Given the description of an element on the screen output the (x, y) to click on. 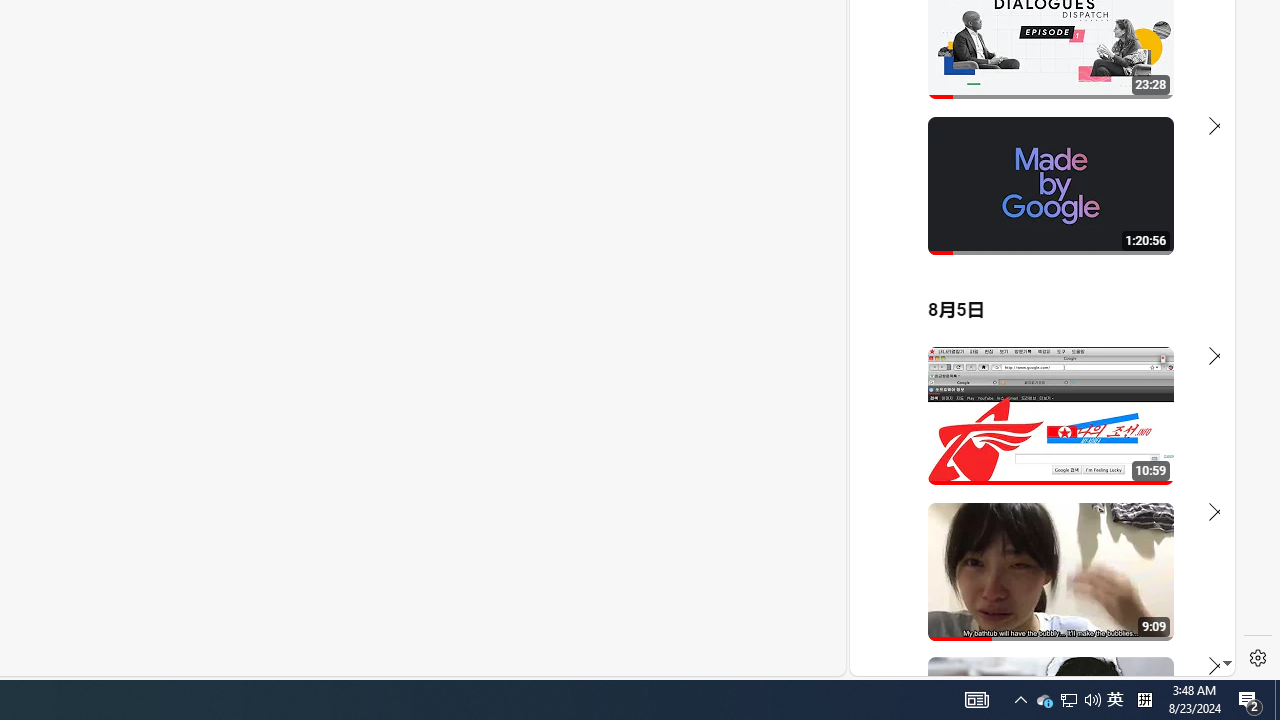
YouTube - YouTube (1034, 266)
Class: dict_pnIcon rms_img (1028, 660)
you (1034, 609)
US[ju] (917, 660)
